Given the description of an element on the screen output the (x, y) to click on. 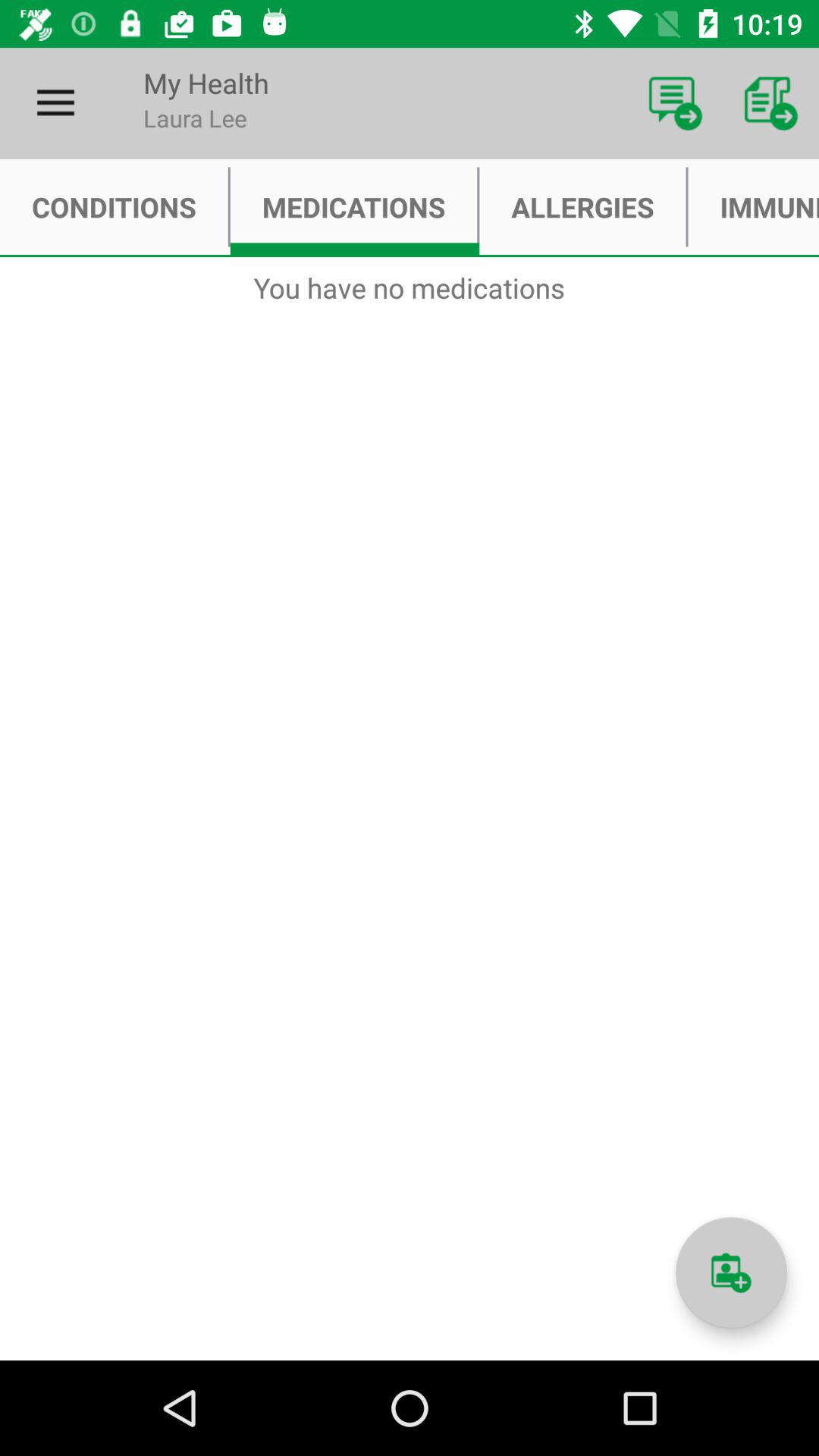
turn on item above the allergies item (675, 103)
